Given the description of an element on the screen output the (x, y) to click on. 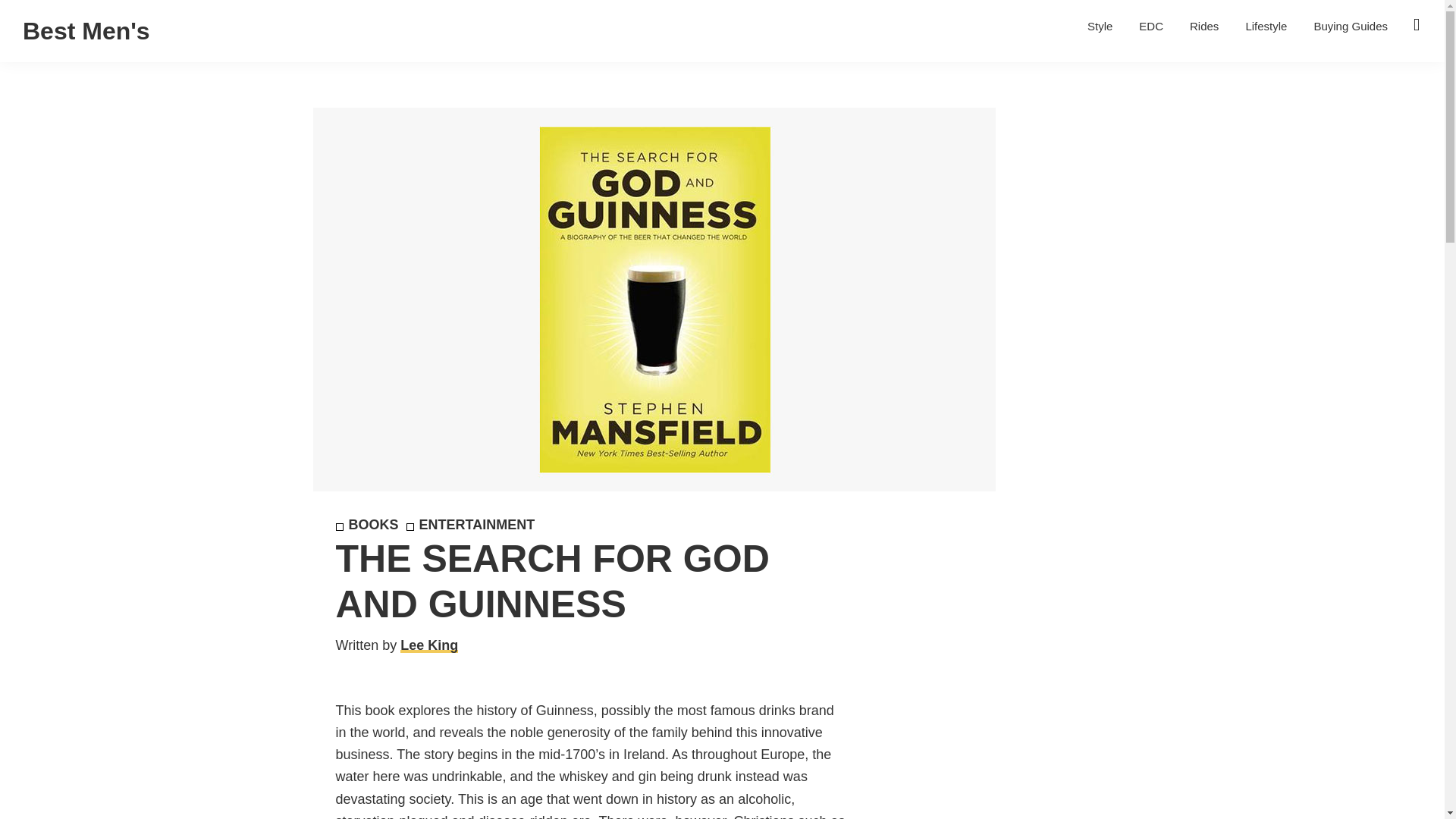
ENTERTAINMENT (470, 524)
EDC (1150, 25)
Style (1099, 25)
Show Search (1416, 24)
Lee King (429, 645)
Best Men's (86, 31)
Lifestyle (1265, 25)
Rides (1203, 25)
Buying Guides (1350, 25)
Advertisement (973, 679)
BOOKS (365, 524)
